Given the description of an element on the screen output the (x, y) to click on. 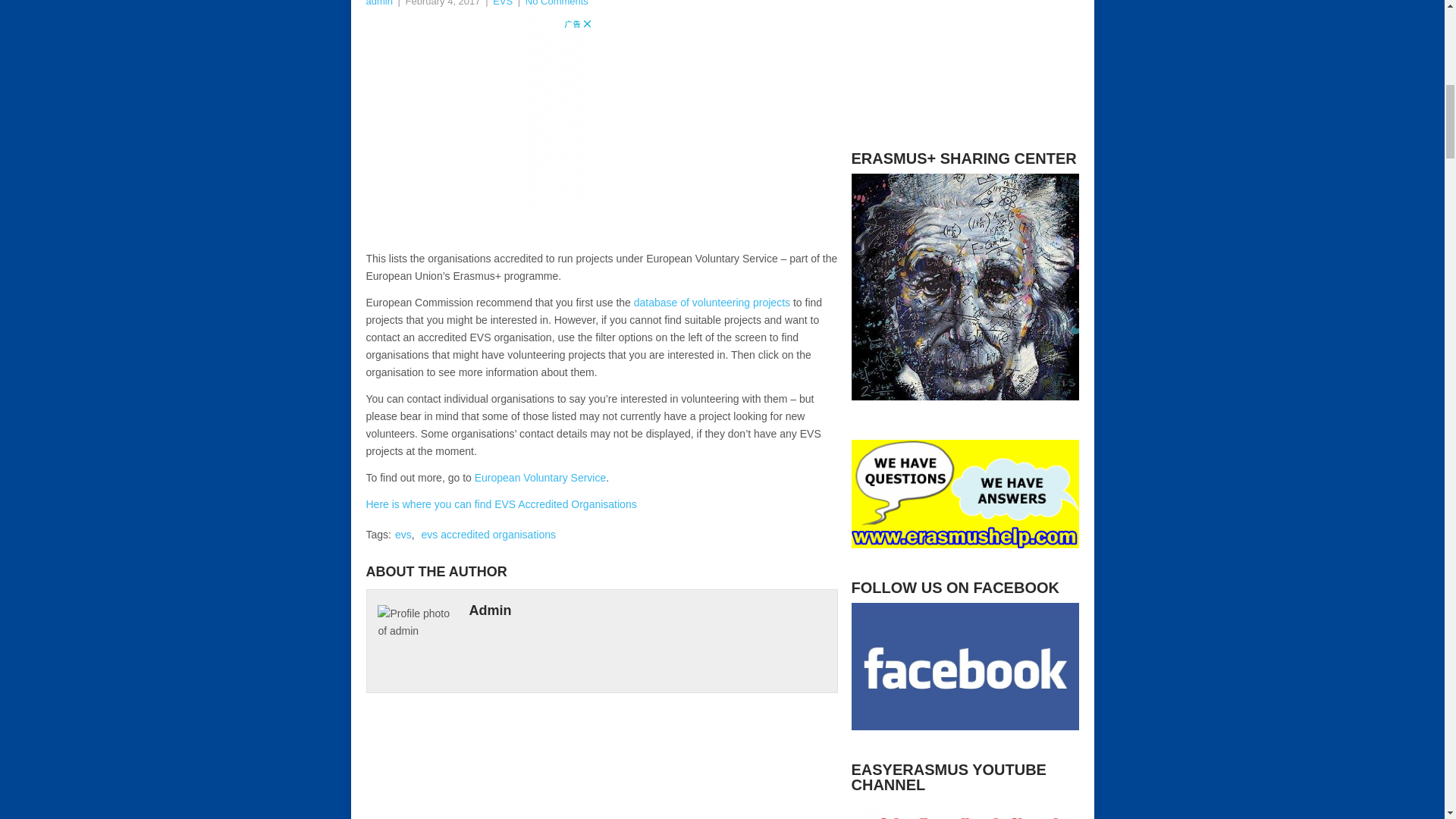
Advertisement (478, 130)
Posts by admin (378, 3)
